Given the description of an element on the screen output the (x, y) to click on. 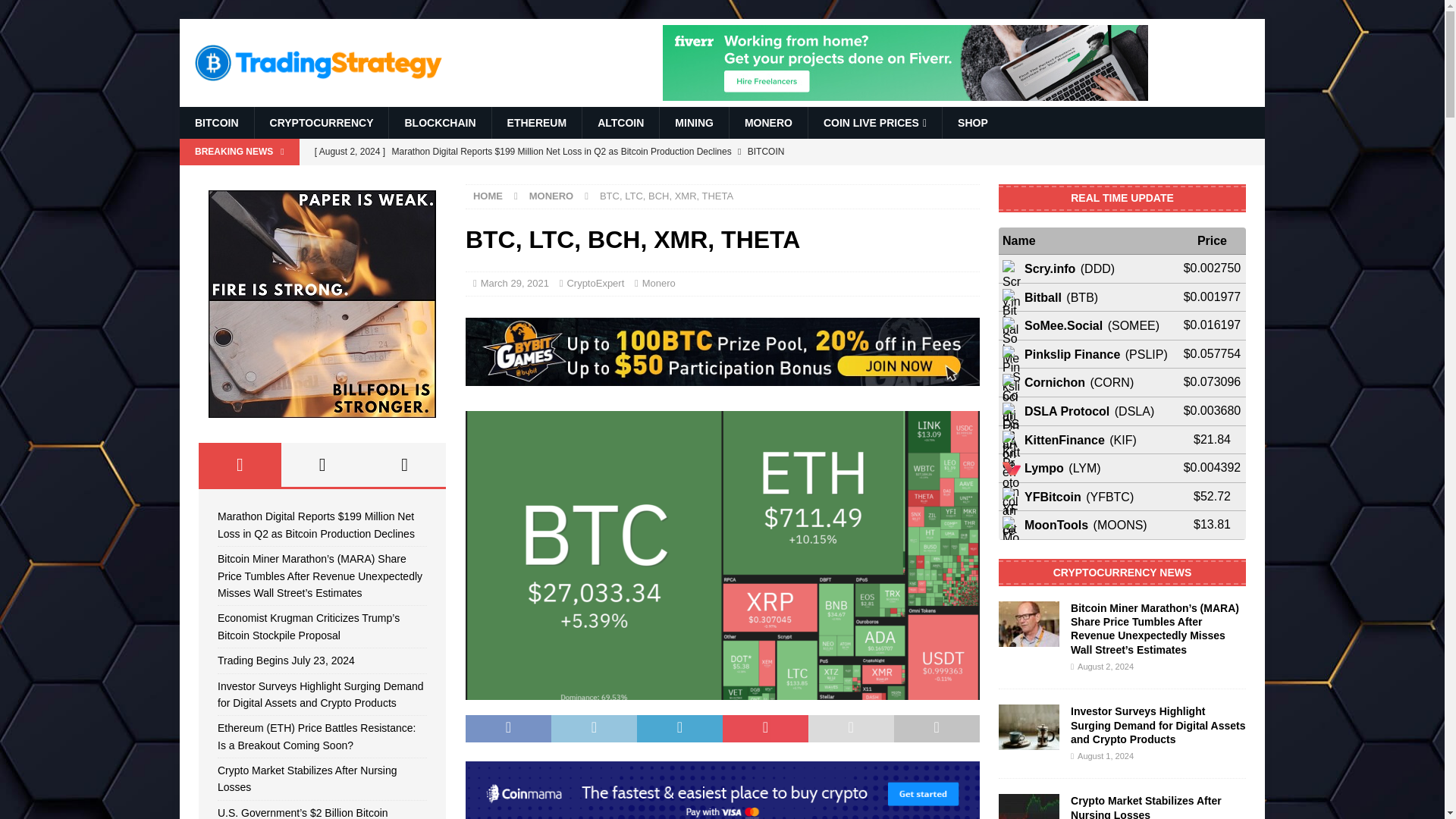
BITCOIN (216, 122)
BLOCKCHAIN (439, 122)
ETHEREUM (537, 122)
MONERO (768, 122)
COIN LIVE PRICES (875, 122)
CRYPTOCURRENCY (320, 122)
SHOP (972, 122)
ALTCOIN (619, 122)
MINING (694, 122)
